Given the description of an element on the screen output the (x, y) to click on. 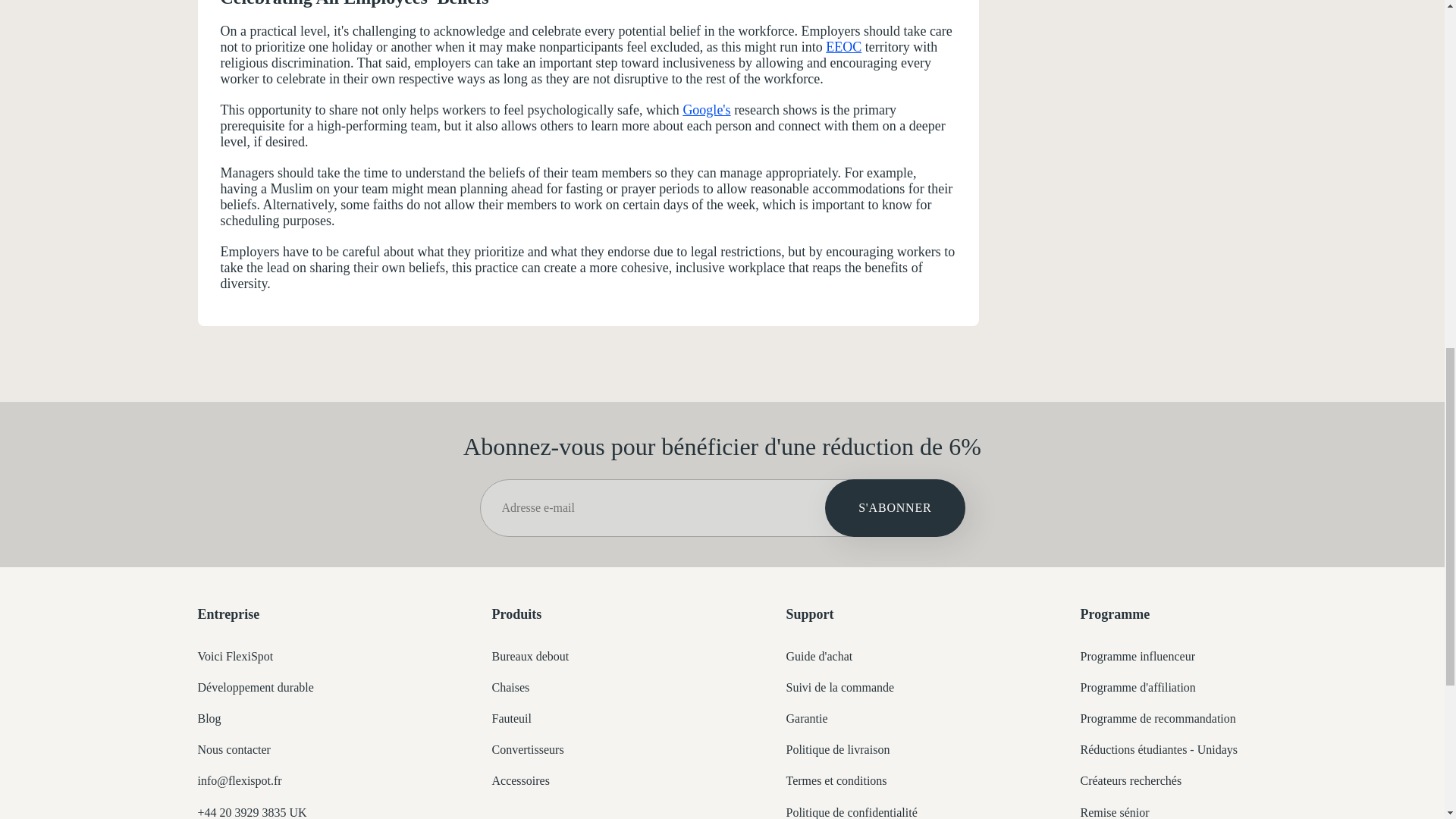
Convertisseurs (527, 748)
Google's (706, 109)
Politique de livraison (837, 748)
Termes et conditions (836, 780)
EEOC (843, 46)
Programme d'affiliation (1137, 686)
Guide d'achat (818, 656)
Accessoires (520, 780)
Nous contacter (232, 748)
Fauteuil (511, 717)
Blog (208, 717)
Bureaux debout (530, 656)
Voici FlexiSpot (234, 656)
Chaises (510, 686)
S'ABONNER (894, 507)
